Given the description of an element on the screen output the (x, y) to click on. 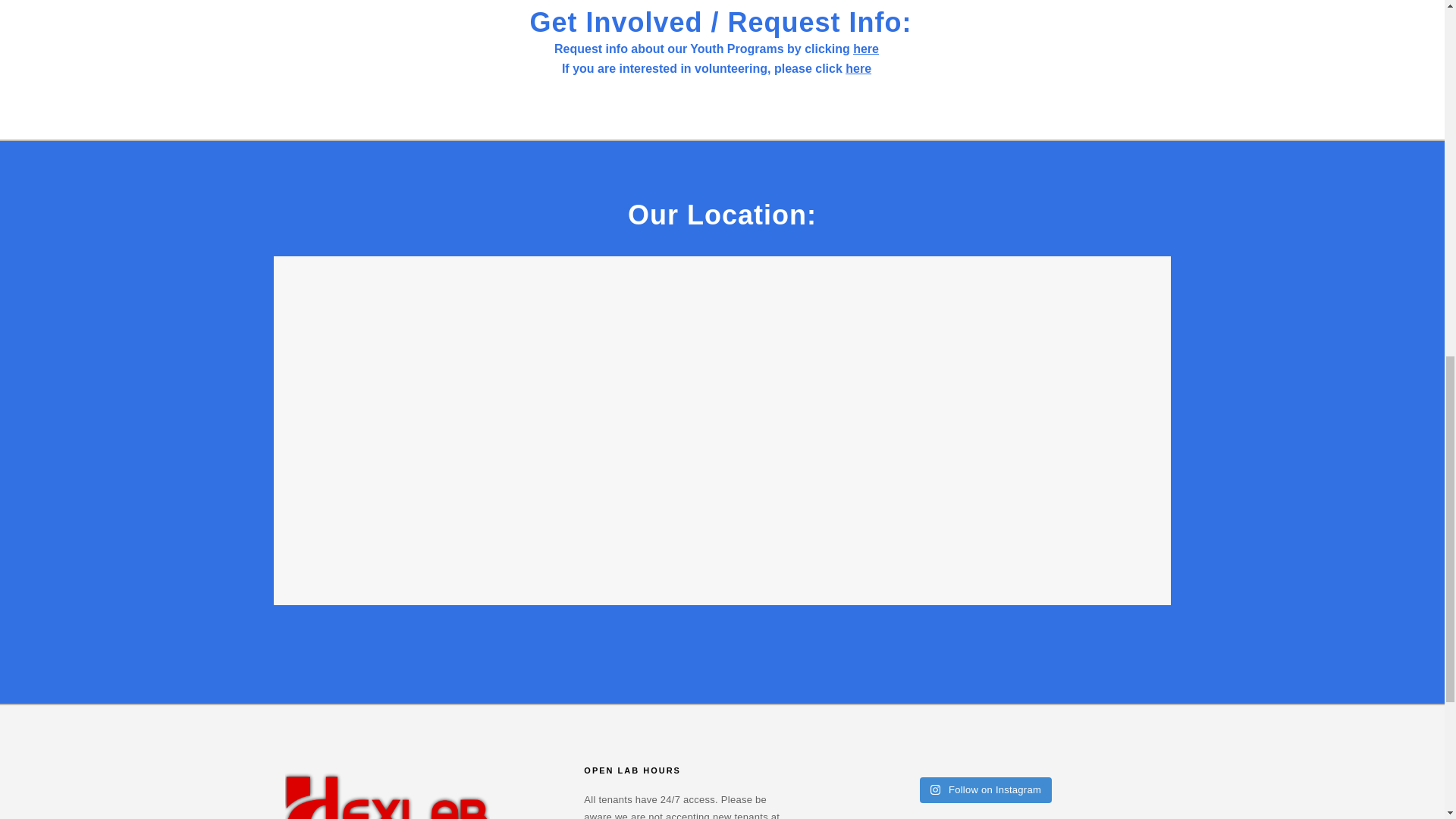
here (857, 68)
here (866, 48)
Follow on Instagram (985, 790)
